Given the description of an element on the screen output the (x, y) to click on. 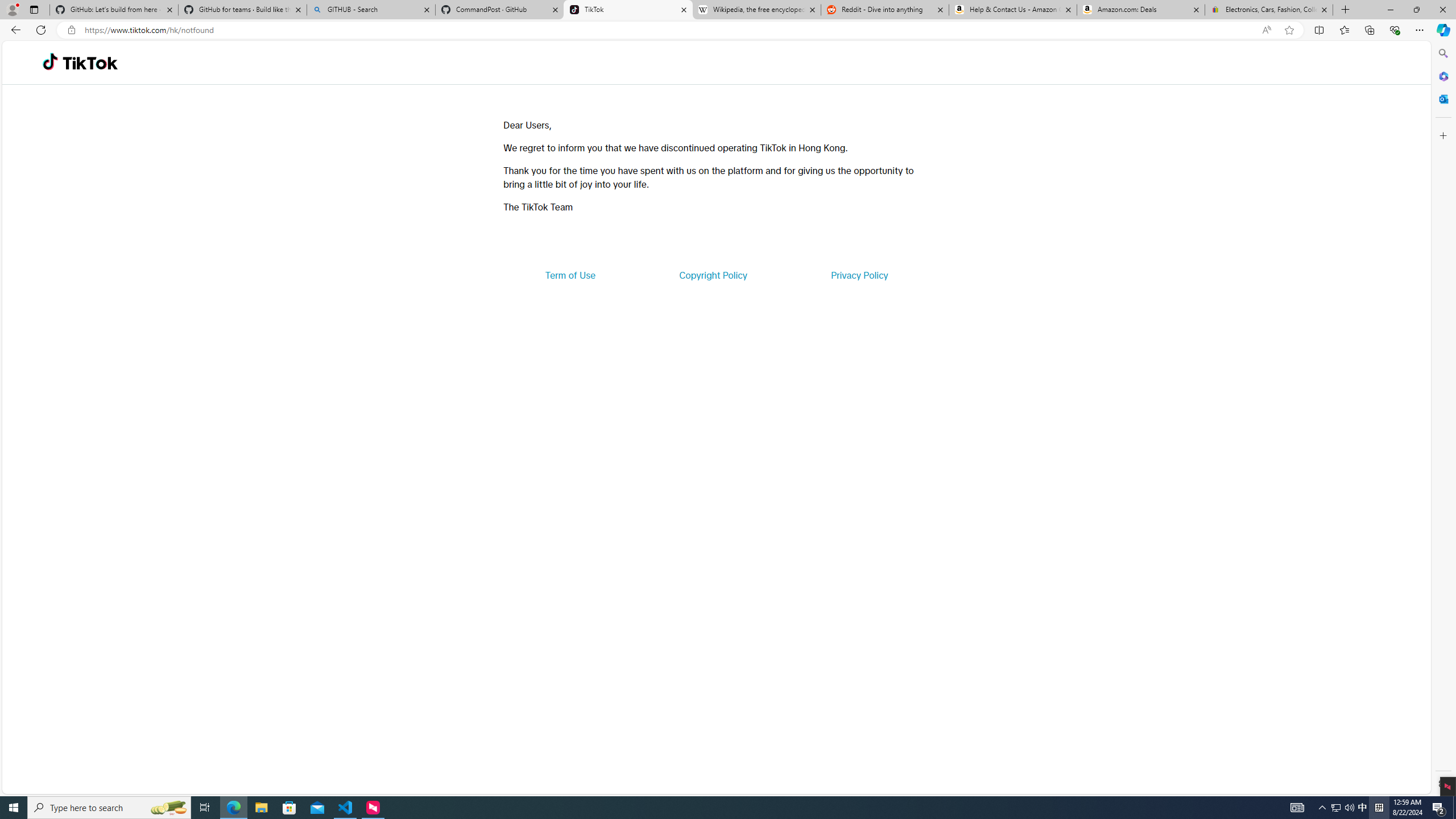
Privacy Policy (858, 274)
GITHUB - Search (370, 9)
